Given the description of an element on the screen output the (x, y) to click on. 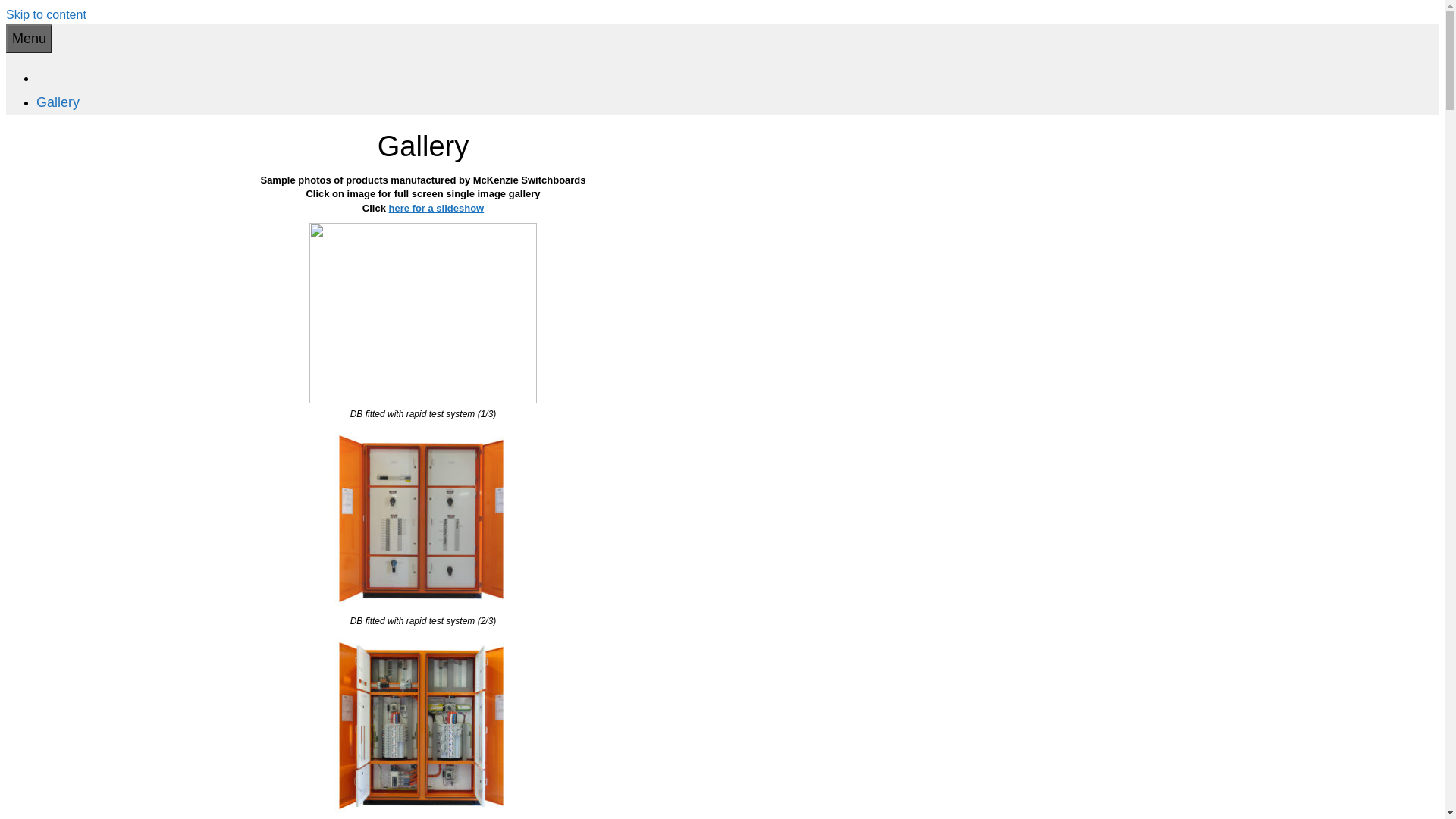
Menu Element type: text (29, 38)
DB fitted with rapid test system (2/3) Element type: hover (422, 607)
DB fitted with rapid test system (1/3) Element type: hover (422, 400)
Gallery Element type: text (57, 101)
Skip to content Element type: text (46, 14)
here for a slideshow Element type: text (435, 207)
